Given the description of an element on the screen output the (x, y) to click on. 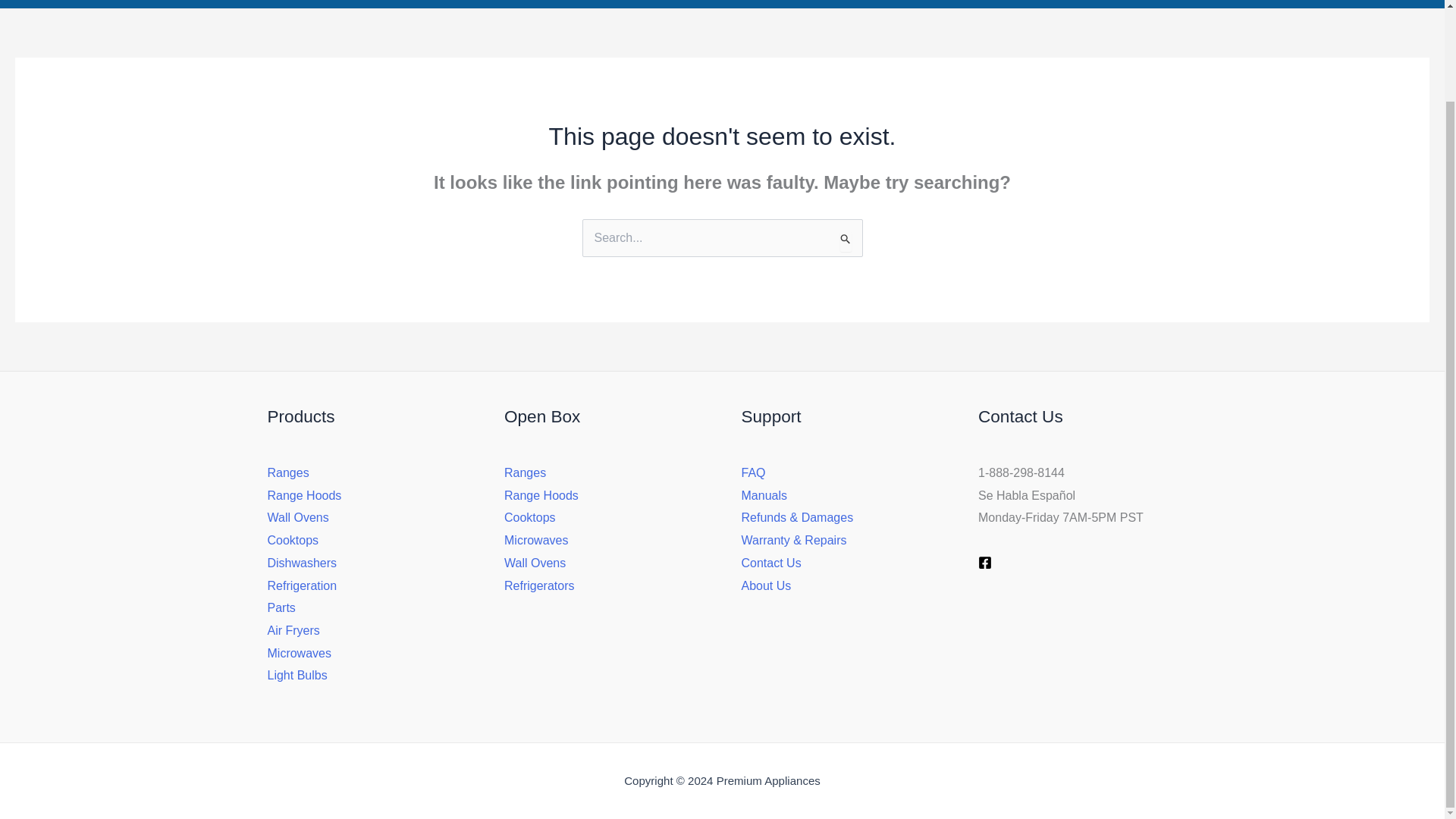
Wall Ovens (459, 4)
Support (988, 4)
Ranges (306, 4)
Hoods (382, 4)
Refrigeration (786, 4)
Open Box (614, 4)
Dishwashers (702, 4)
Parts (855, 4)
More (915, 4)
Cooktops (534, 4)
